Given the description of an element on the screen output the (x, y) to click on. 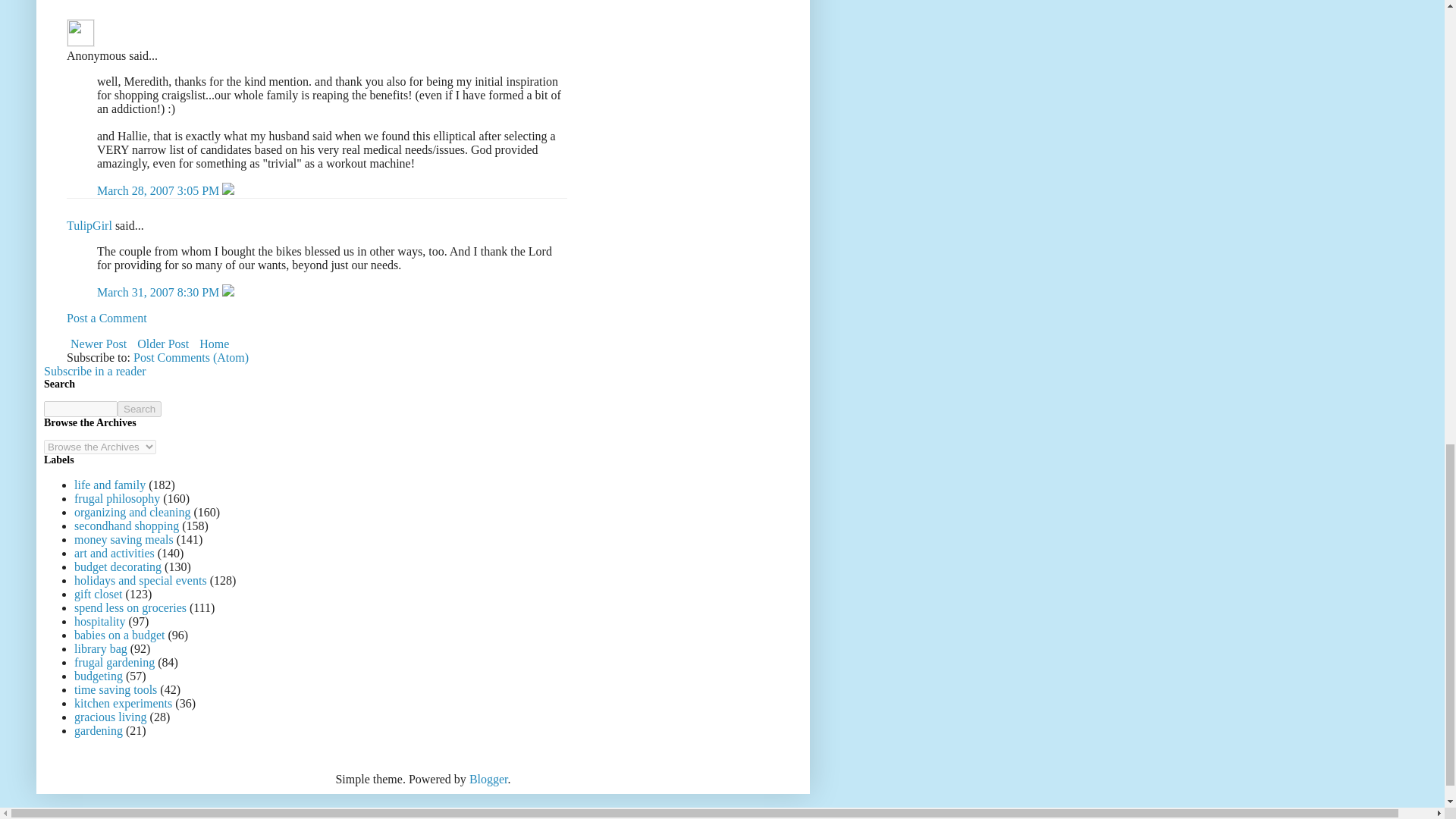
Post a Comment (106, 318)
Delete Comment (228, 291)
Home (213, 343)
March 28, 2007 3:05 PM (159, 190)
TulipGirl (89, 225)
Newer Post (98, 343)
Anonymous (80, 32)
Delete Comment (228, 190)
Search (139, 408)
comment permalink (159, 291)
Older Post (162, 343)
comment permalink (159, 190)
Search (139, 408)
March 31, 2007 8:30 PM (159, 291)
